Given the description of an element on the screen output the (x, y) to click on. 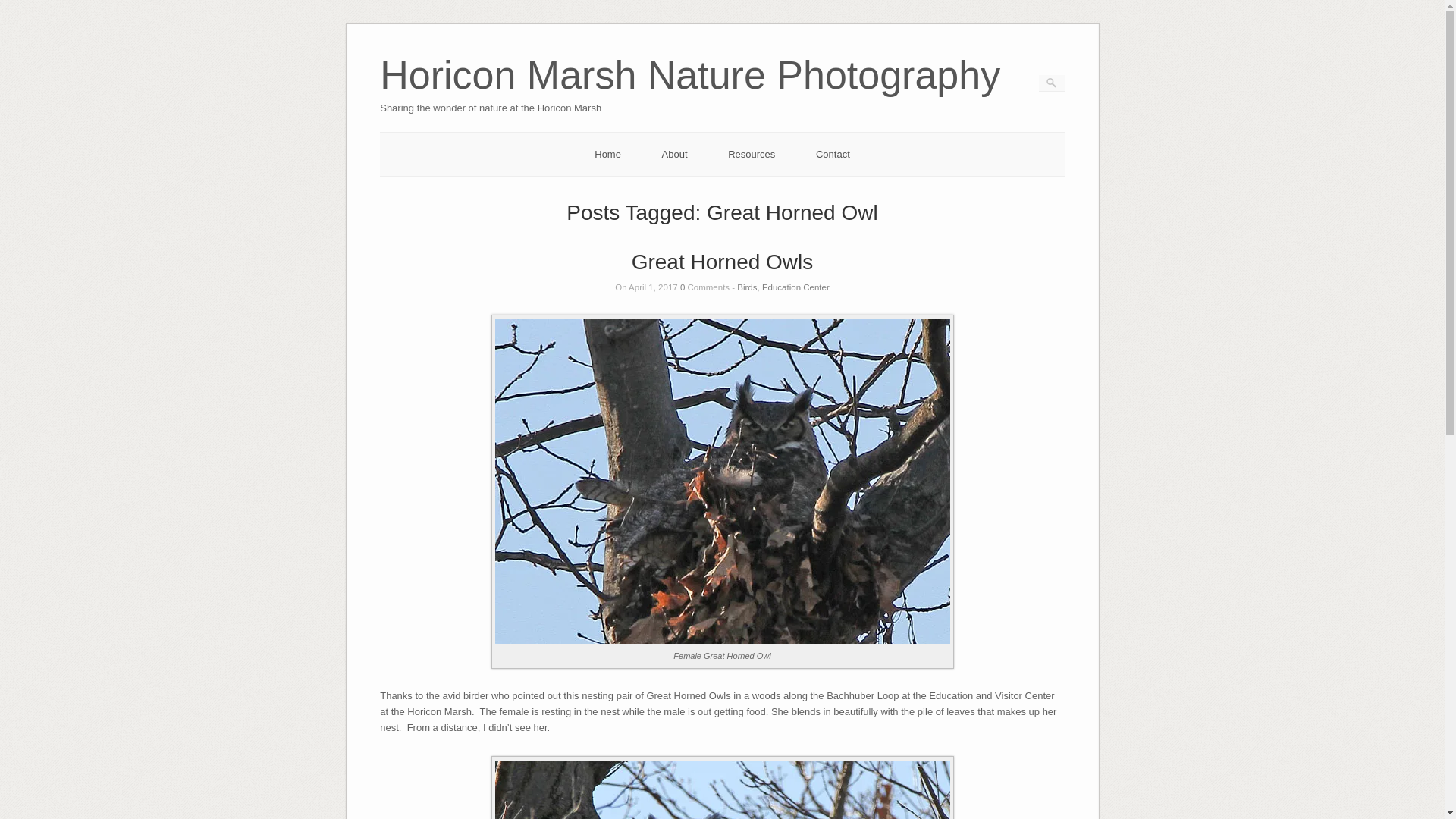
Home (607, 153)
Education Center (795, 286)
Search (21, 7)
Great Horned Owls (722, 261)
Birds (746, 286)
About (674, 153)
Sharing the wonder of nature at the Horicon Marsh (690, 96)
Resources (751, 153)
